Given the description of an element on the screen output the (x, y) to click on. 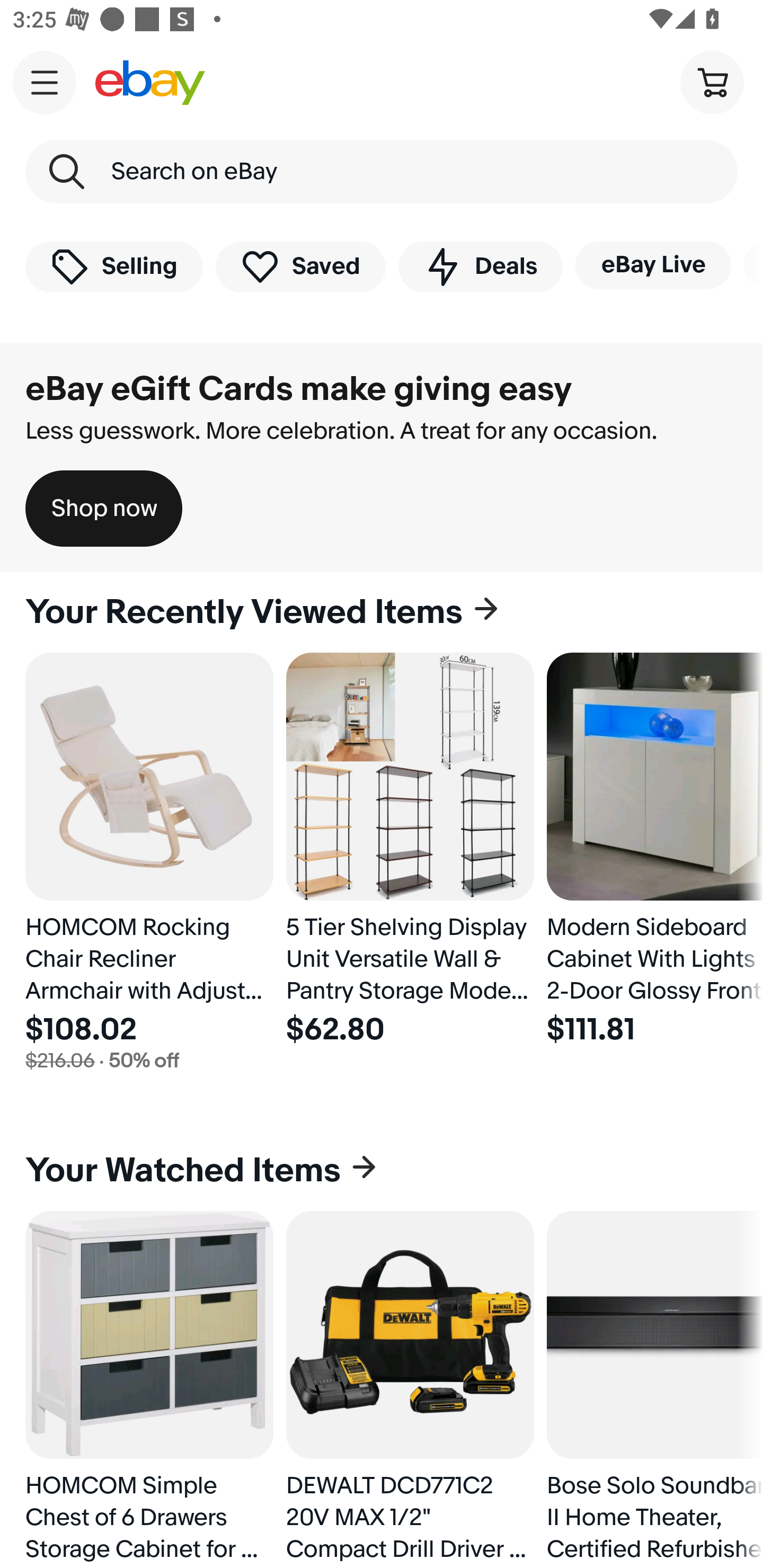
Main navigation, open (44, 82)
Cart button shopping cart (711, 81)
Search on eBay Search Keyword Search on eBay (381, 171)
Selling (113, 266)
Saved (300, 266)
Deals (480, 266)
eBay Live (652, 264)
eBay eGift Cards make giving easy (298, 389)
Shop now (103, 508)
Your Recently Viewed Items   (381, 612)
Your Watched Items   (381, 1170)
